Given the description of an element on the screen output the (x, y) to click on. 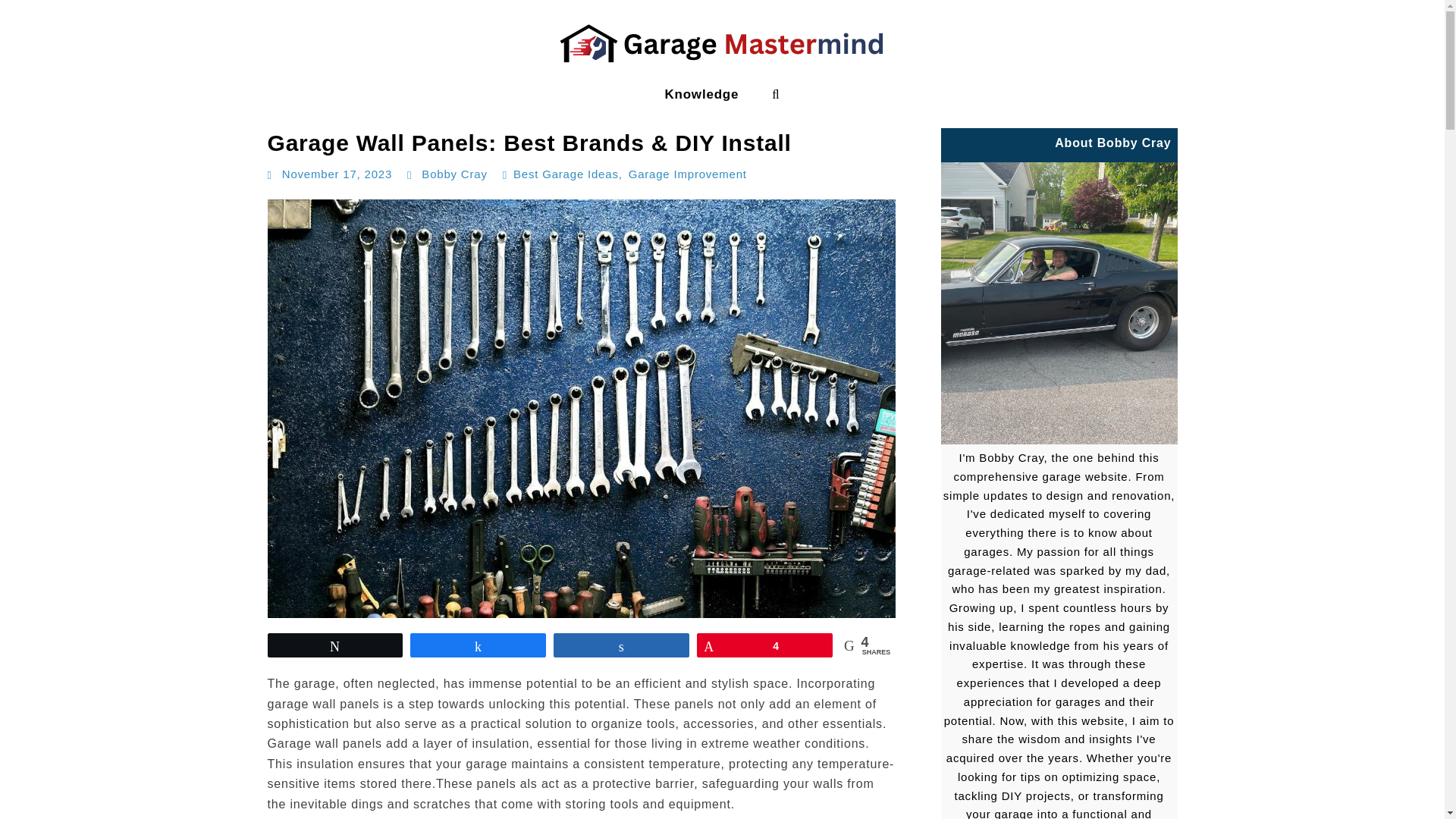
Garage Improvement (687, 173)
Knowledge (701, 94)
4 (764, 644)
Garage Mastermind (75, 109)
Best Garage Ideas (565, 173)
Bobby Cray (454, 173)
